Given the description of an element on the screen output the (x, y) to click on. 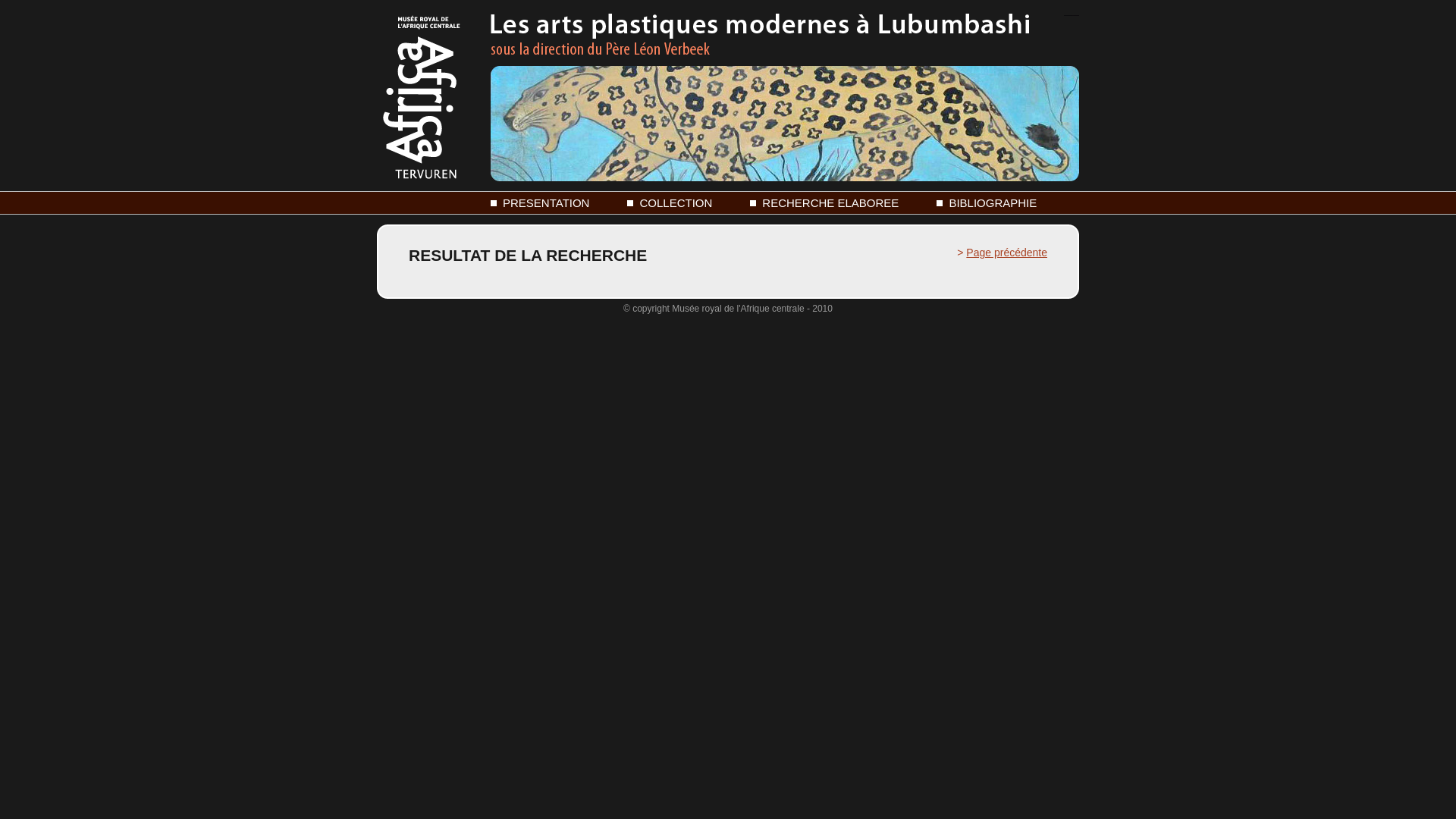
PRESENTATION Element type: text (539, 202)
RECHERCHE ELABOREE Element type: text (823, 202)
COLLECTION Element type: text (669, 202)
BIBLIOGRAPHIE Element type: text (986, 202)
